Given the description of an element on the screen output the (x, y) to click on. 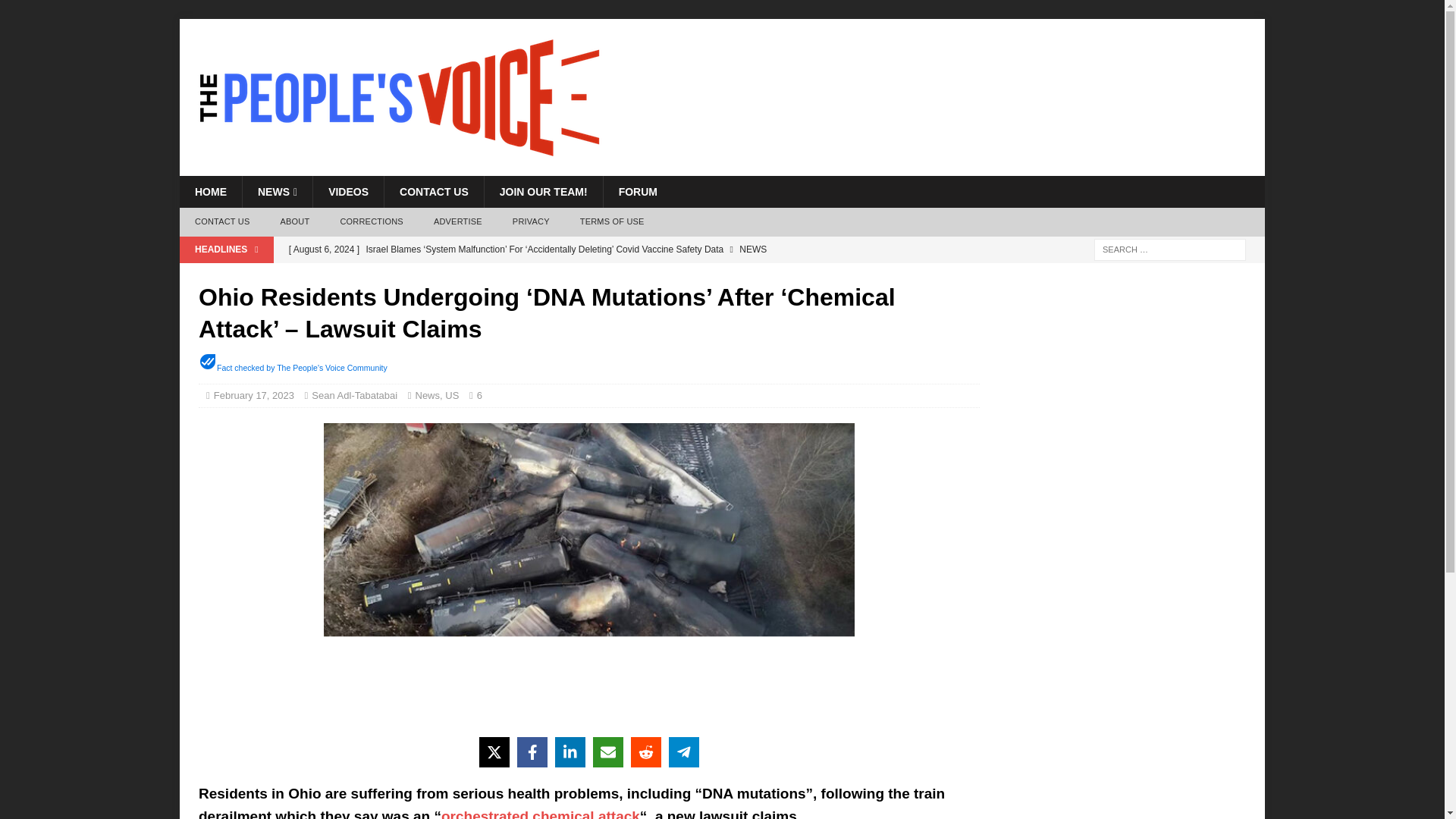
Sean Adl-Tabatabai (354, 395)
NEWS (277, 192)
US (451, 395)
ADVERTISE (458, 222)
HOME (210, 192)
TERMS OF USE (611, 222)
CONTACT US (221, 222)
JOIN OUR TEAM! (542, 192)
February 17, 2023 (254, 395)
FORUM (637, 192)
